Given the description of an element on the screen output the (x, y) to click on. 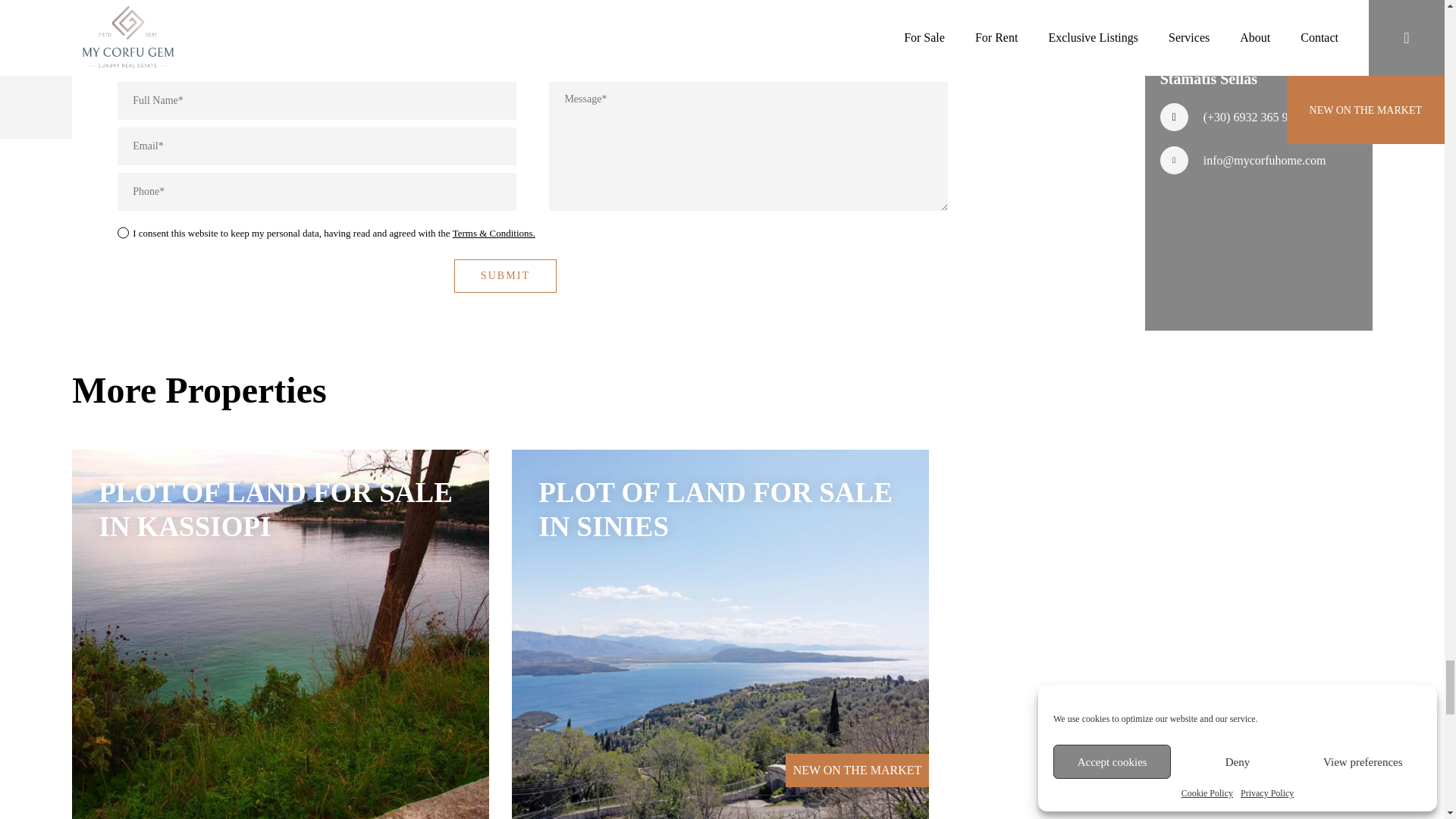
Submit (505, 275)
